Given the description of an element on the screen output the (x, y) to click on. 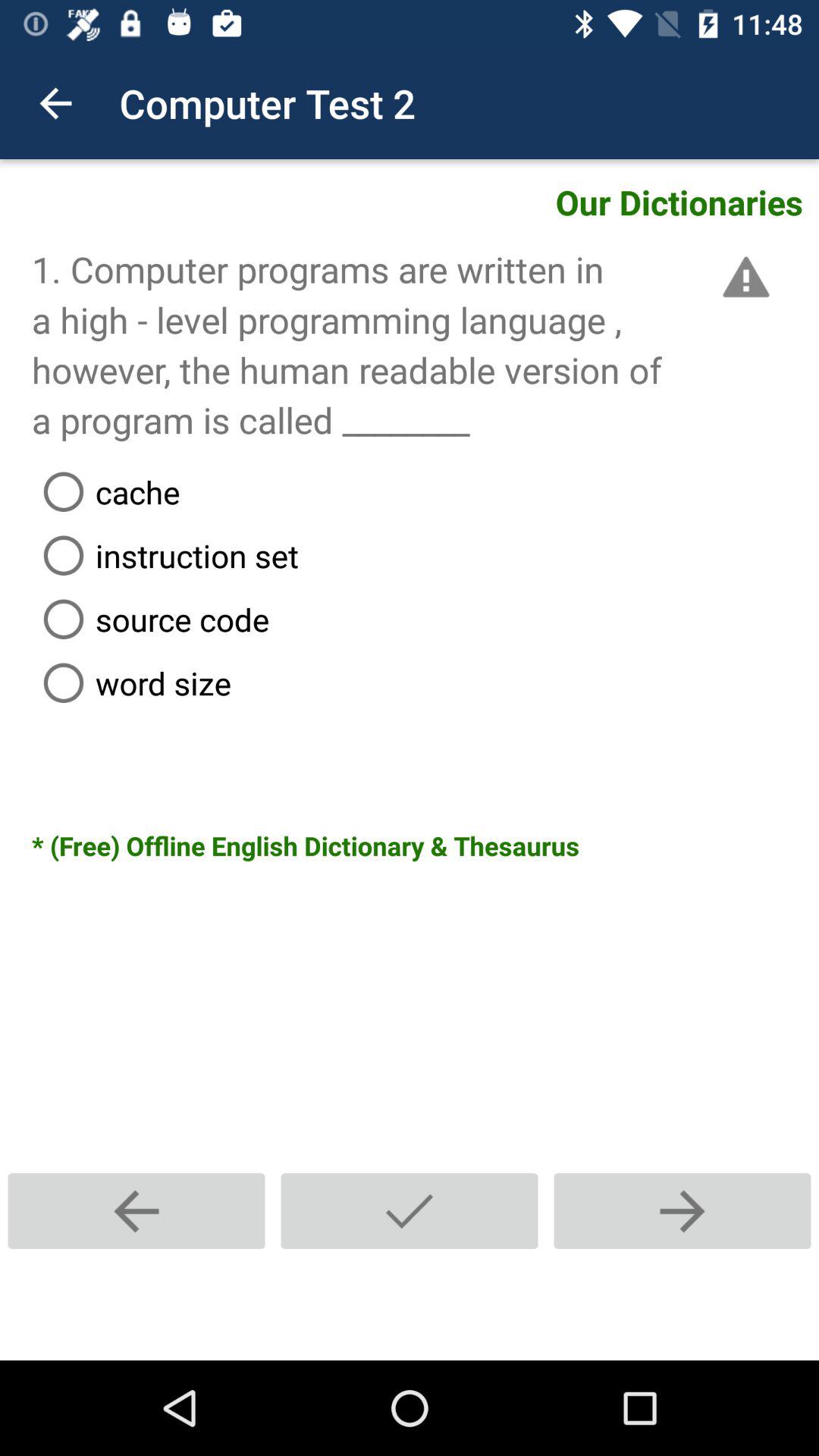
tap item below the free offline english item (409, 1210)
